Given the description of an element on the screen output the (x, y) to click on. 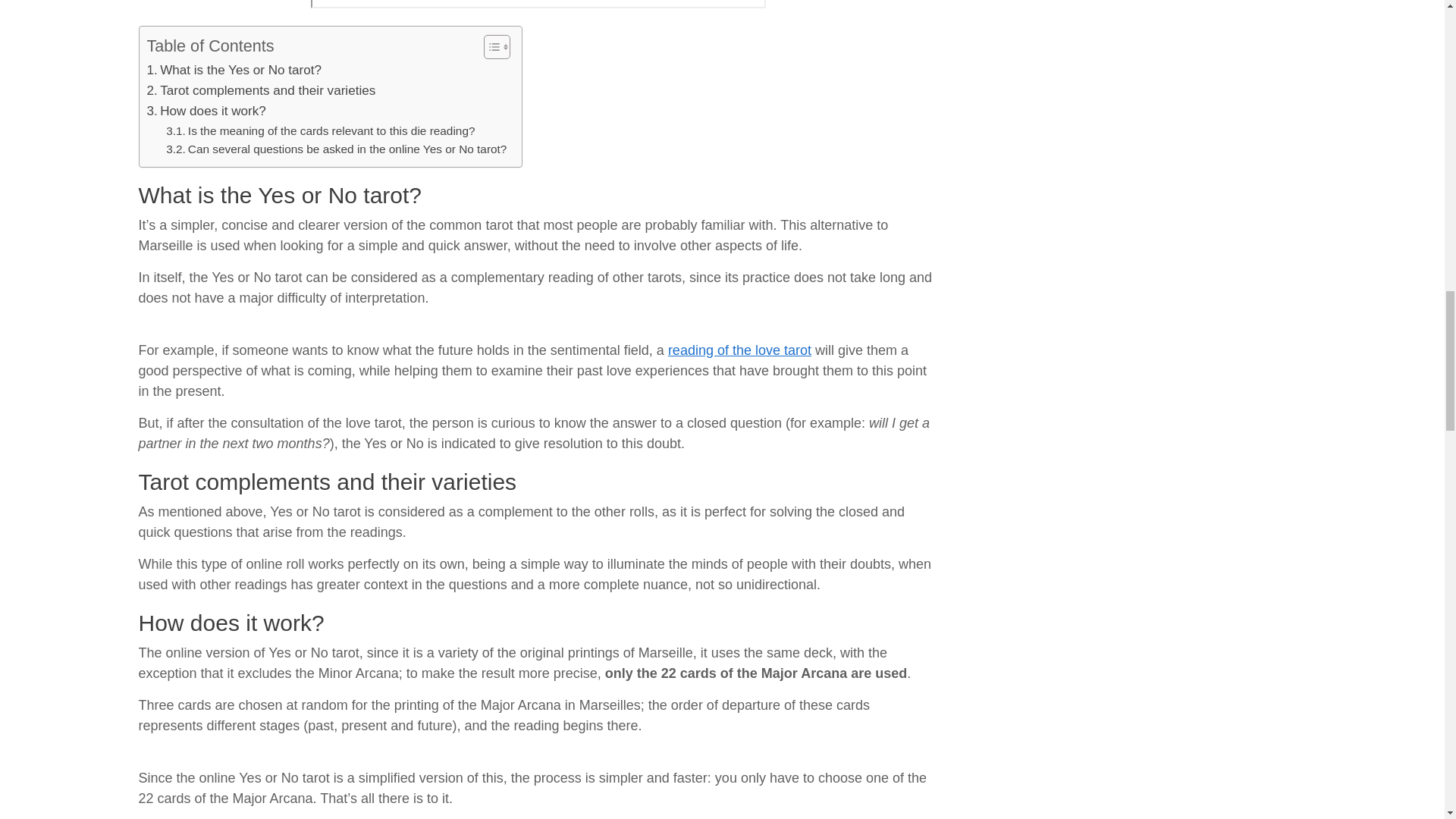
Is the meaning of the cards relevant to this die reading? (319, 131)
Tarot complements and their varieties (261, 90)
How does it work? (206, 110)
reading of the love tarot (739, 350)
How does it work? (206, 110)
What is the Yes or No tarot? (234, 69)
What is the Yes or No tarot? (234, 69)
Is the meaning of the cards relevant to this die reading? (319, 131)
Tarot complements and their varieties (261, 90)
